Given the description of an element on the screen output the (x, y) to click on. 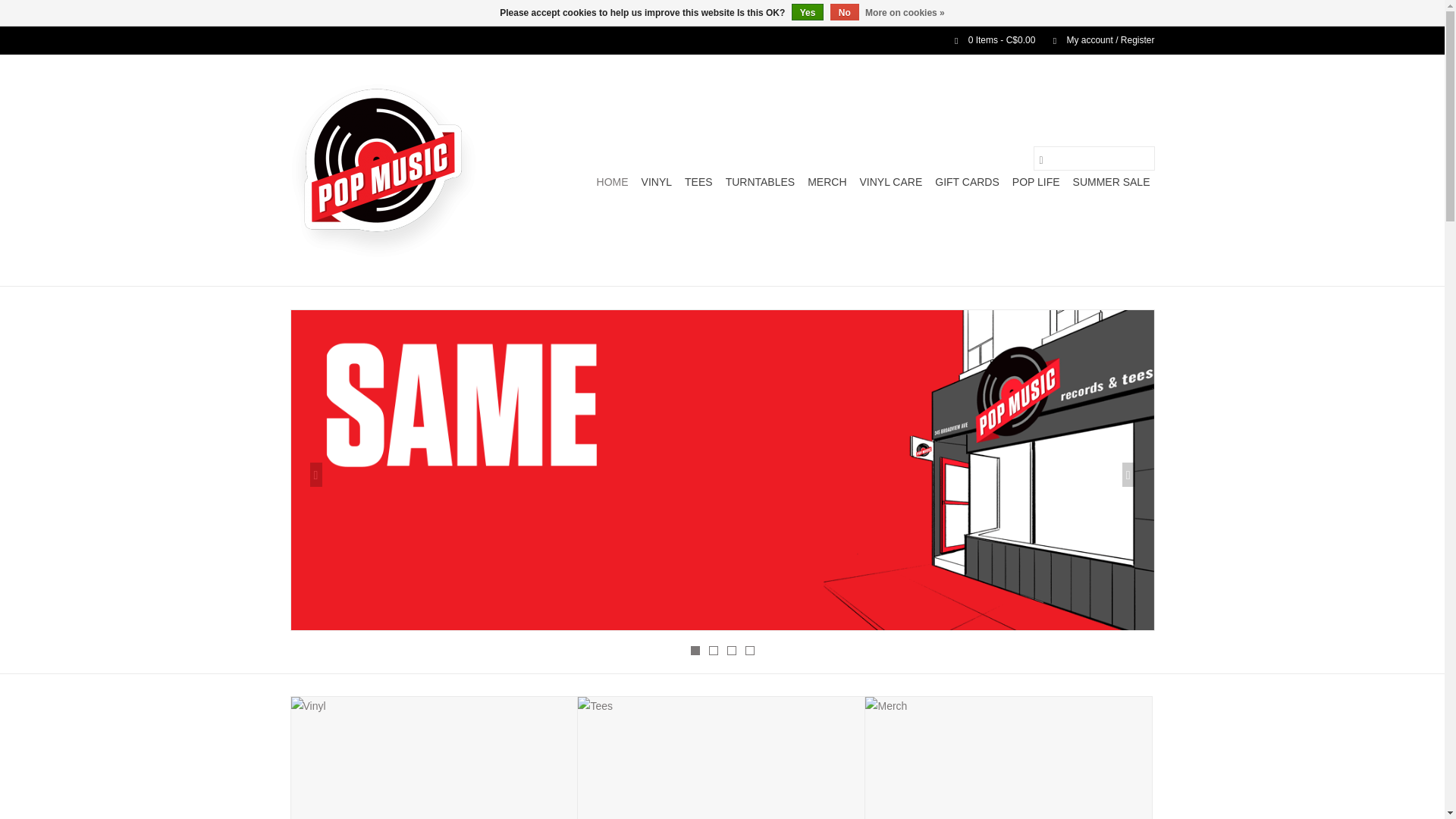
HOME (612, 181)
My account (1096, 40)
MERCH (826, 181)
Pop Music: The Most Popular Records (382, 169)
Vinyl (657, 181)
VINYL CARE (891, 181)
TURNTABLES (759, 181)
Cart (988, 40)
VINYL (657, 181)
TEES (698, 181)
